Given the description of an element on the screen output the (x, y) to click on. 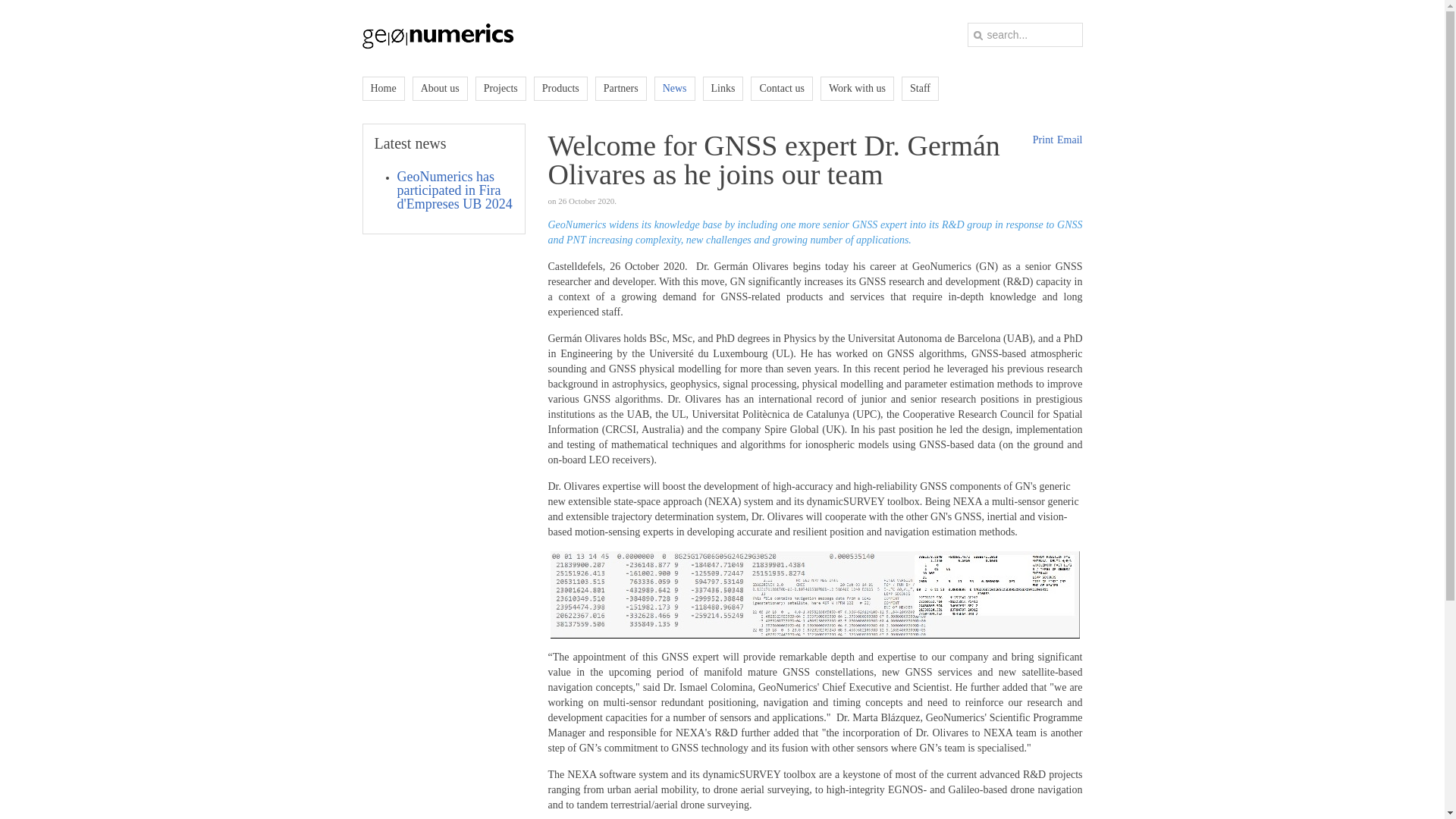
Email (1069, 139)
Links (723, 88)
Projects (500, 88)
Products (561, 88)
About us (439, 88)
Home (383, 88)
Staff (920, 88)
Partners (620, 88)
Work with us (857, 88)
Contact us (781, 88)
Print (1042, 139)
Reset (3, 2)
News (674, 88)
Print (1042, 139)
Email (1069, 139)
